Given the description of an element on the screen output the (x, y) to click on. 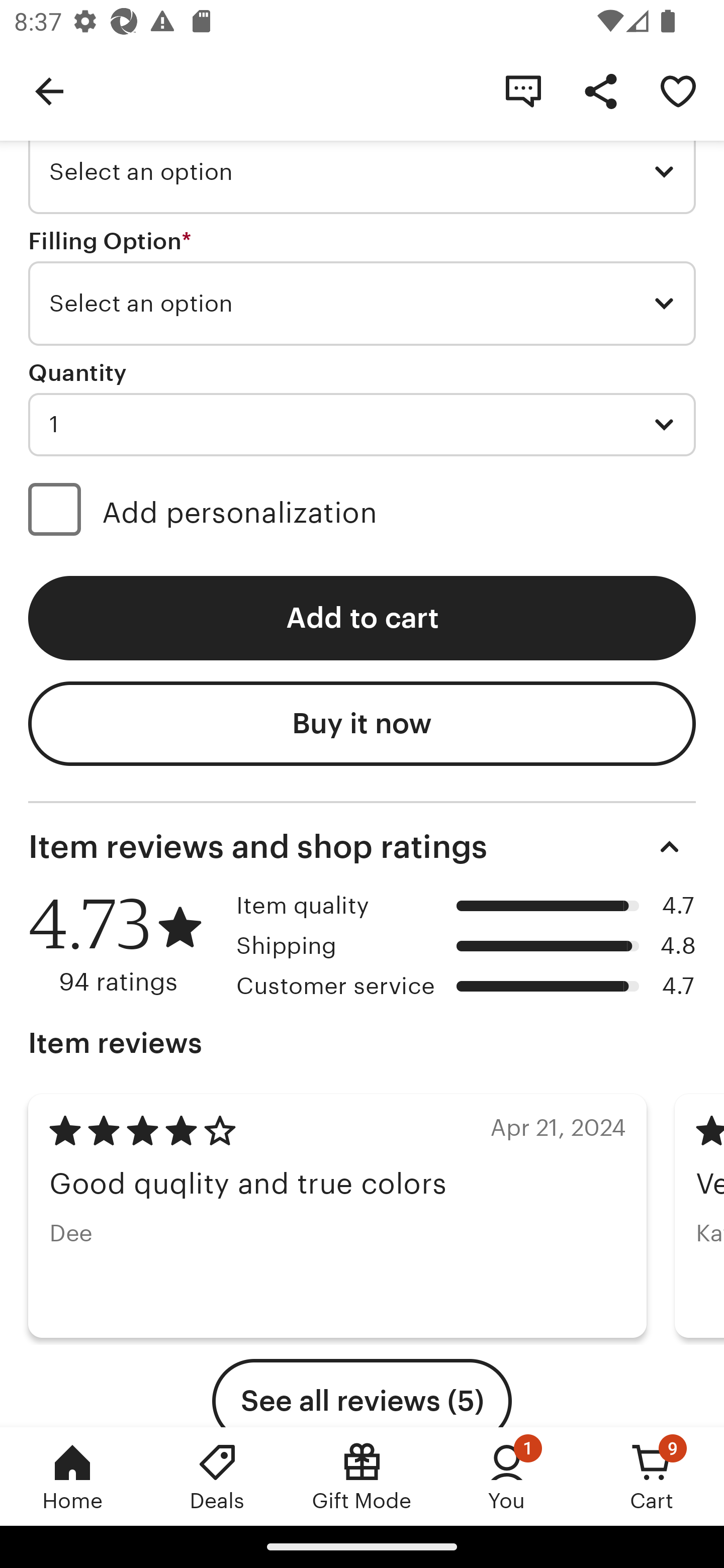
Navigate up (49, 90)
Contact shop (523, 90)
Share (600, 90)
Select an option (361, 172)
Filling Option * Required Select an option (361, 287)
Select an option (361, 303)
Quantity (77, 372)
1 (361, 424)
Add personalization (optional) Add personalization (362, 512)
Add to cart (361, 617)
Buy it now (361, 723)
Item reviews and shop ratings (362, 846)
4.73 94 ratings (125, 943)
See all reviews (5) (361, 1392)
Deals (216, 1475)
Gift Mode (361, 1475)
You, 1 new notification You (506, 1475)
Cart, 9 new notifications Cart (651, 1475)
